Given the description of an element on the screen output the (x, y) to click on. 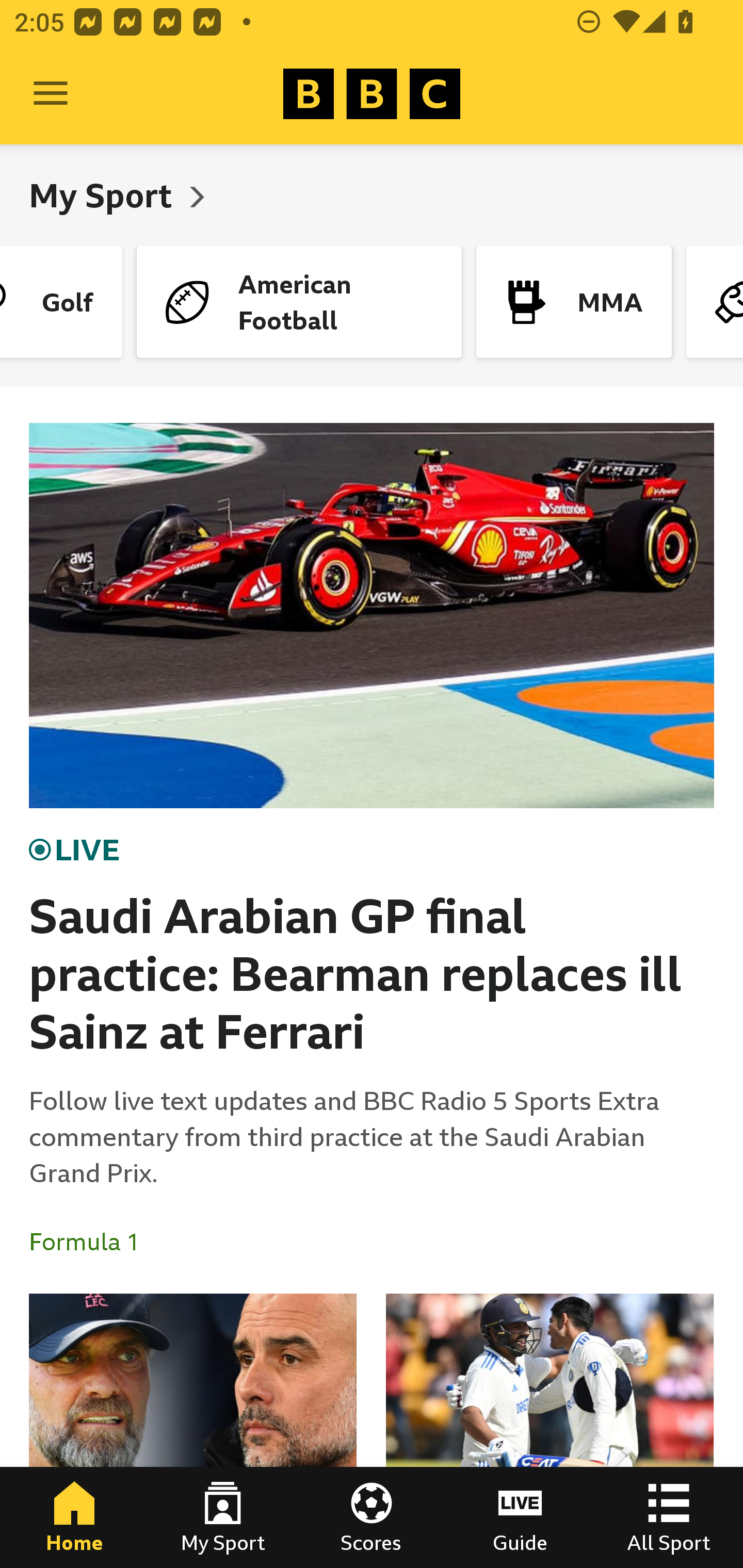
Open Menu (50, 93)
My Sport (104, 195)
Formula 1 In the section Formula 1 (91, 1241)
India build big lead despite Stokes' return wicket (549, 1430)
My Sport (222, 1517)
Scores (371, 1517)
Guide (519, 1517)
All Sport (668, 1517)
